Given the description of an element on the screen output the (x, y) to click on. 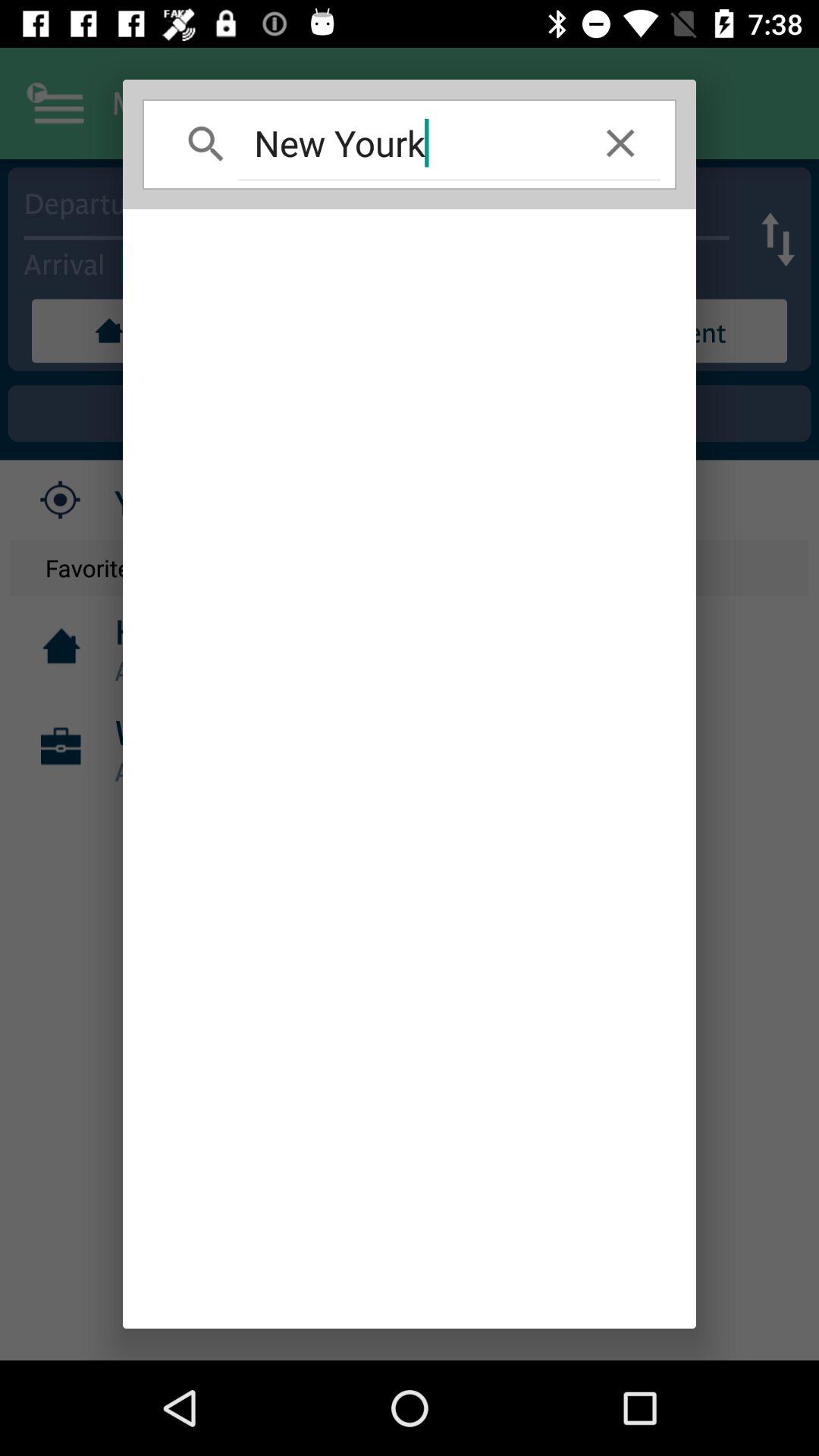
launch the new yourk icon (409, 143)
